Given the description of an element on the screen output the (x, y) to click on. 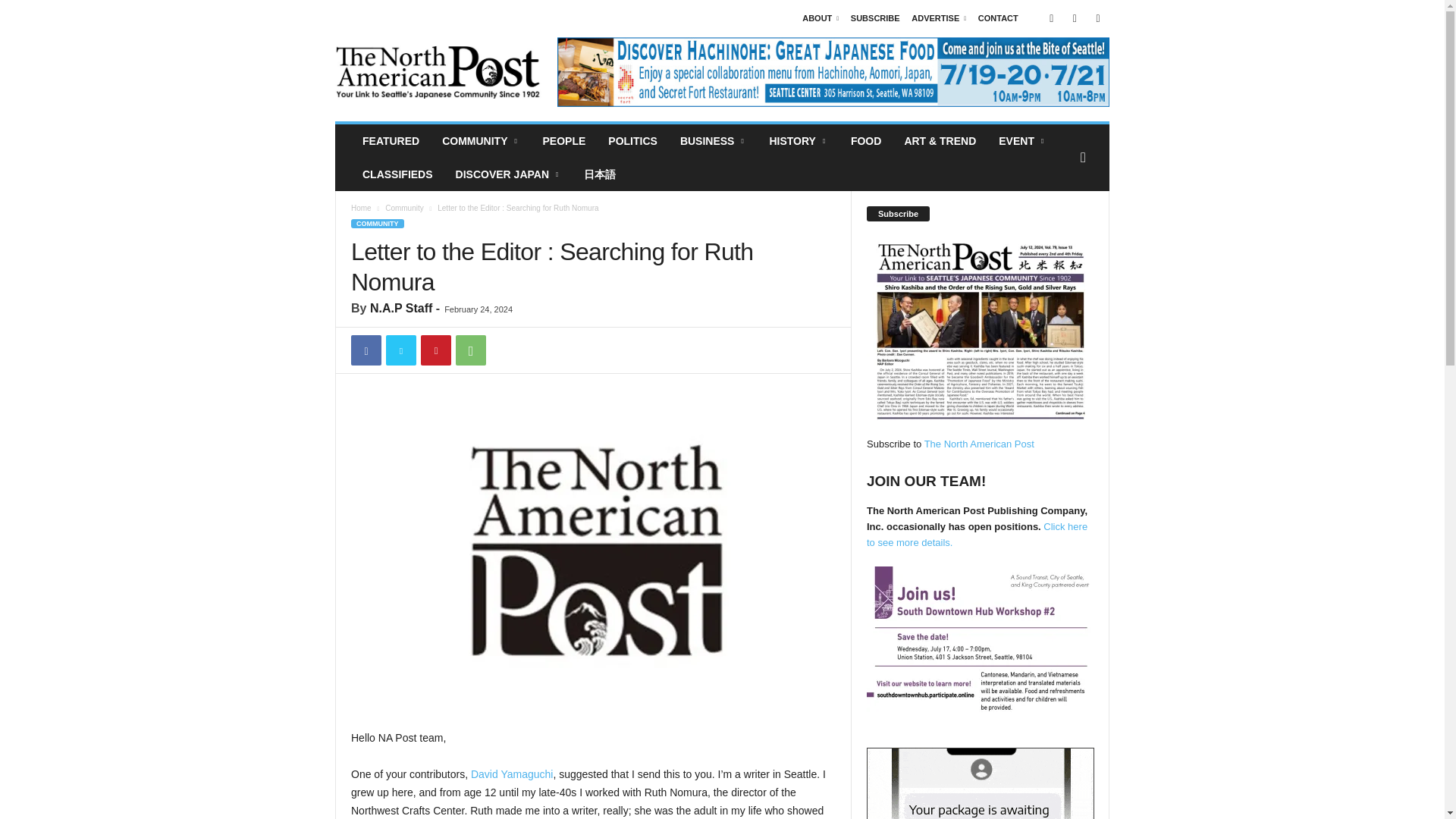
ABOUT (820, 17)
View all posts in Community (404, 207)
WhatsApp (470, 349)
Twitter (400, 349)
Facebook (365, 349)
Pinterest (435, 349)
ADVERTISE (938, 17)
SUBSCRIBE (874, 17)
